Given the description of an element on the screen output the (x, y) to click on. 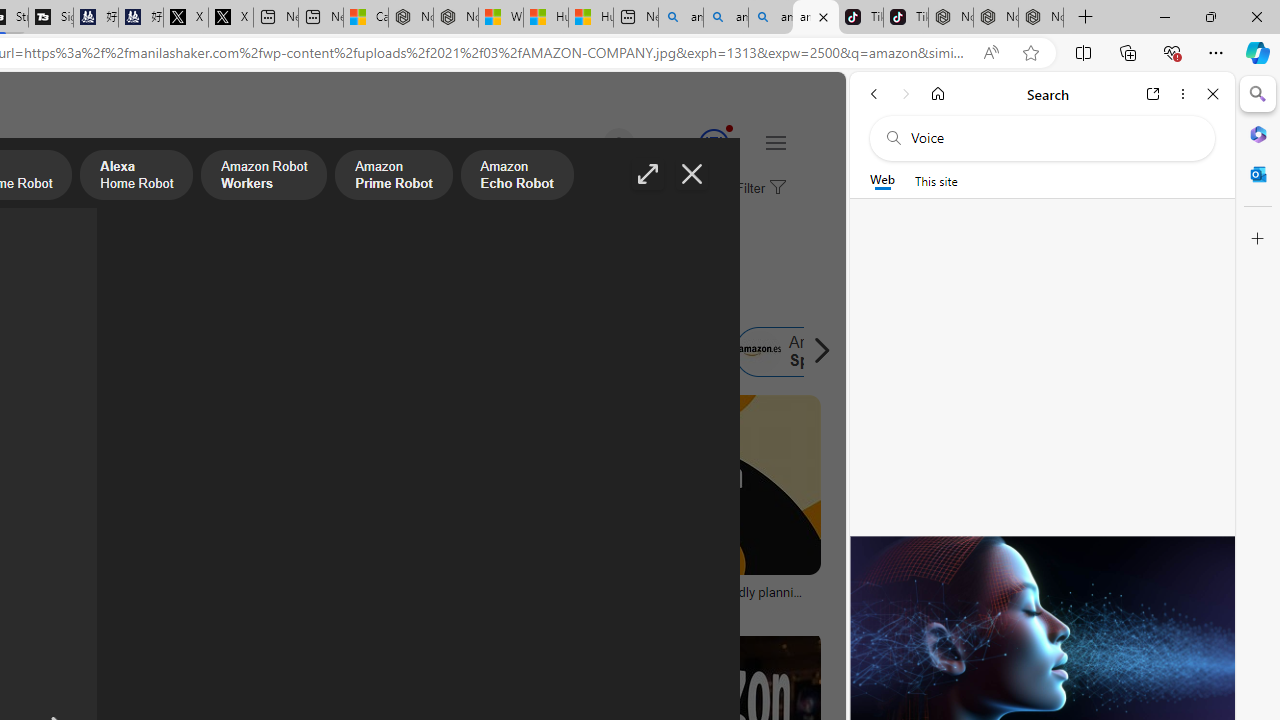
Customize (1258, 239)
Amazon Shoes (659, 351)
Image result for amazon (685, 485)
Alexa Home Robot (136, 177)
Amazon Robot Workers (263, 177)
Class: item col (801, 351)
Eugene (590, 143)
logopng.com.br (63, 605)
